Given the description of an element on the screen output the (x, y) to click on. 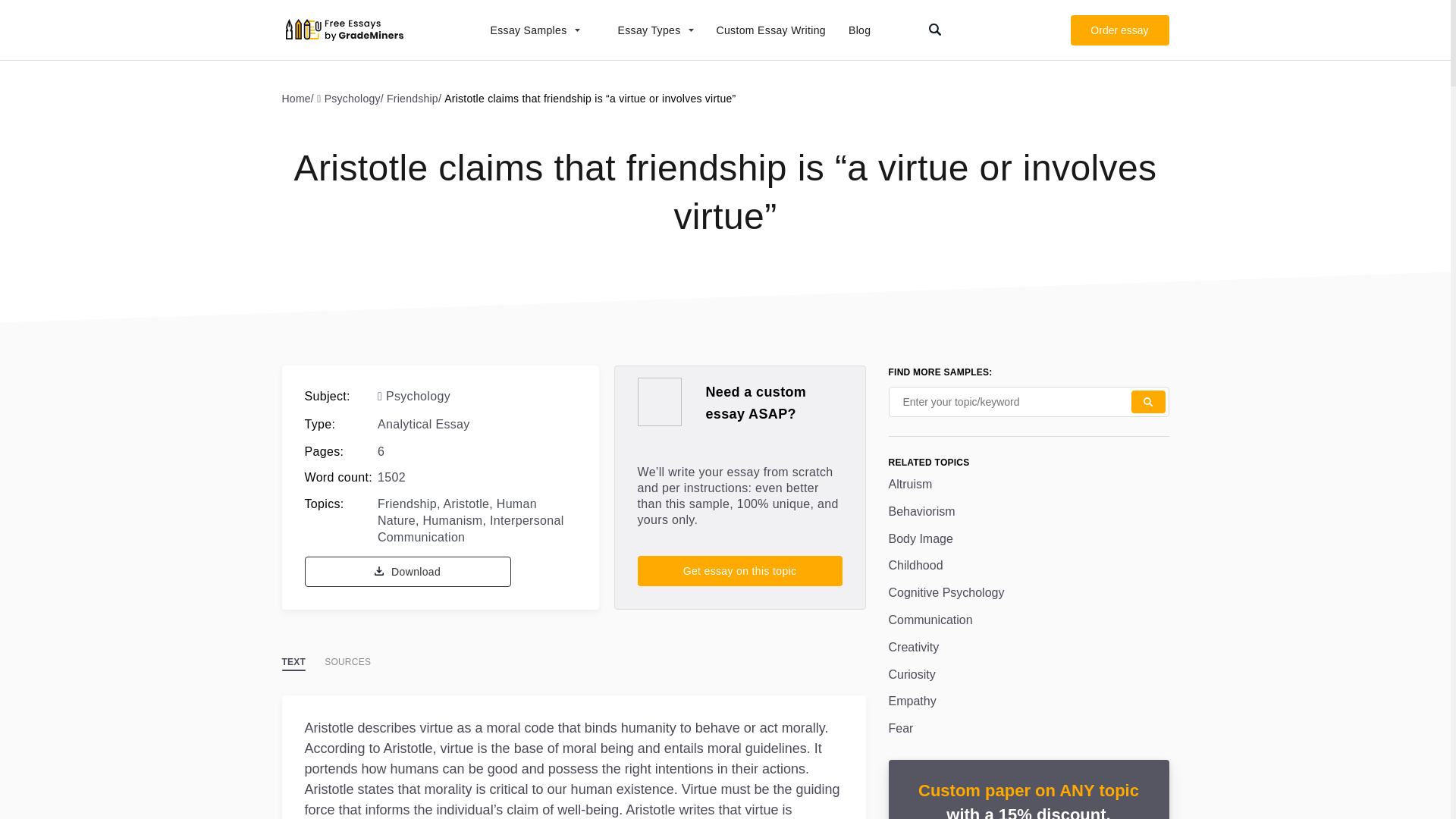
Essay Samples (526, 30)
Go to Examples. (299, 97)
Essay Types (648, 30)
Go to the Friendship Example Category archives. (415, 97)
Search (1148, 401)
